Given the description of an element on the screen output the (x, y) to click on. 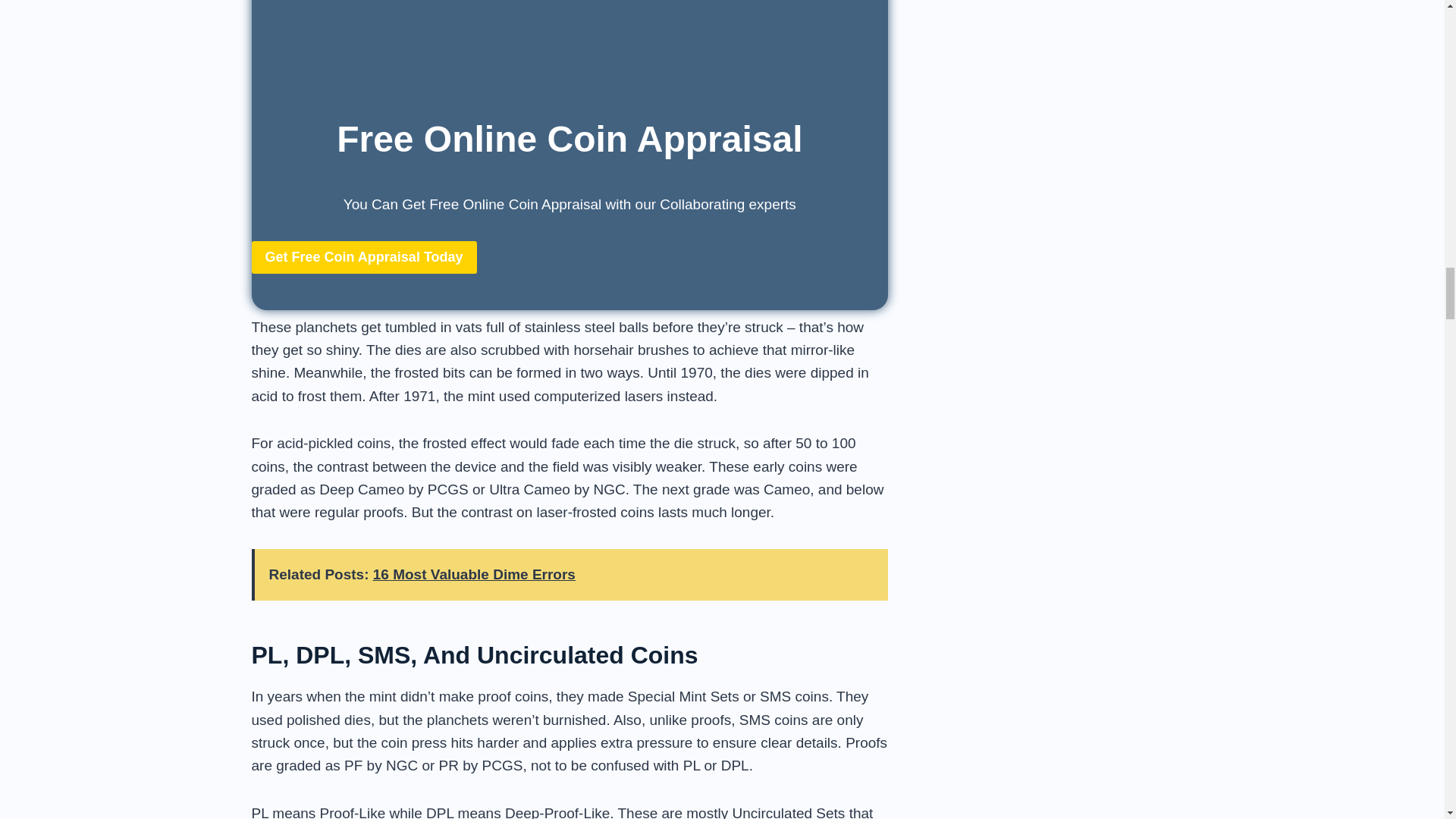
Get Free Coin Appraisal Today (364, 256)
16 Most Valuable Dime Errors (473, 574)
